Given the description of an element on the screen output the (x, y) to click on. 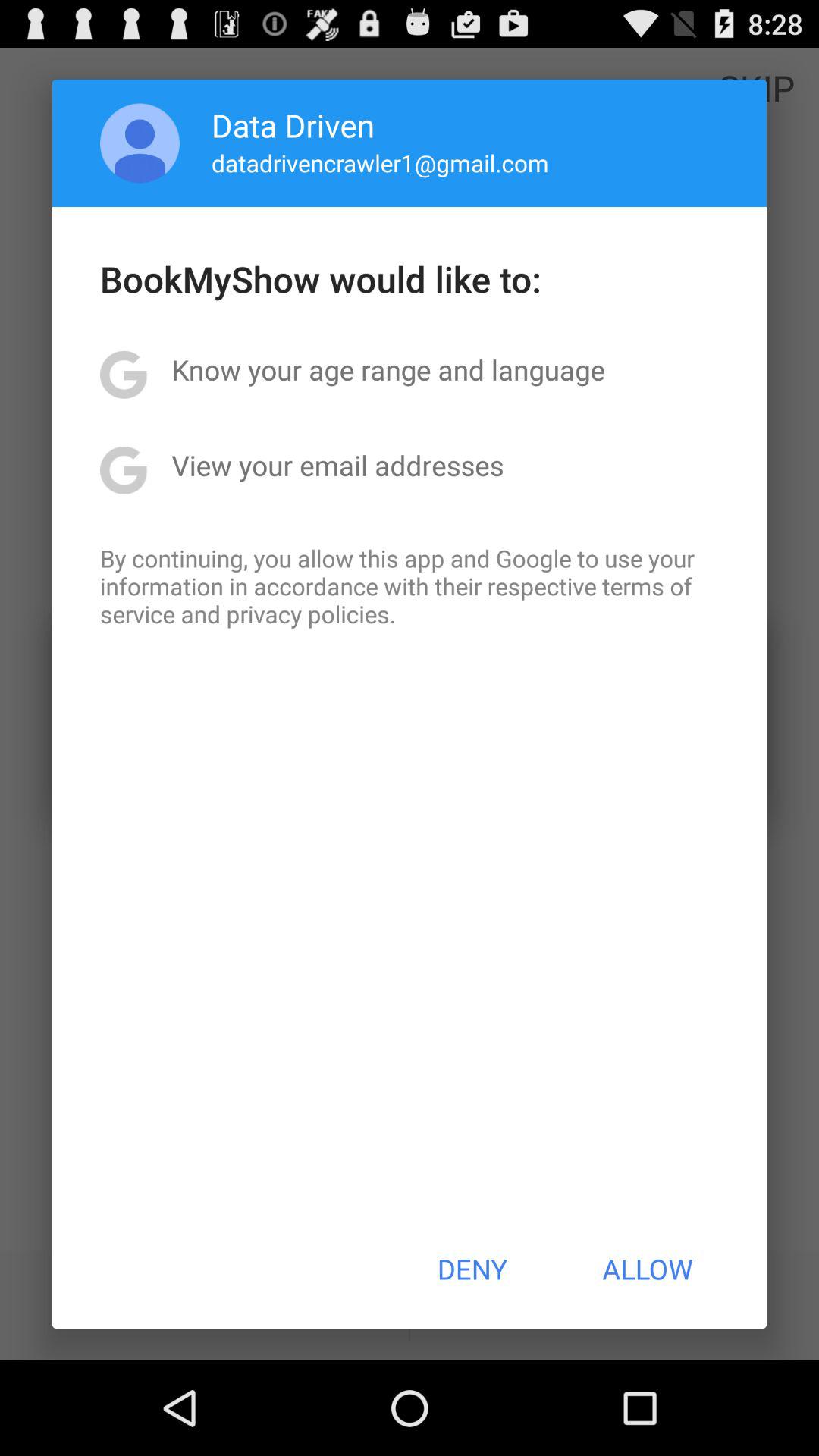
open app next to the data driven app (139, 143)
